Given the description of an element on the screen output the (x, y) to click on. 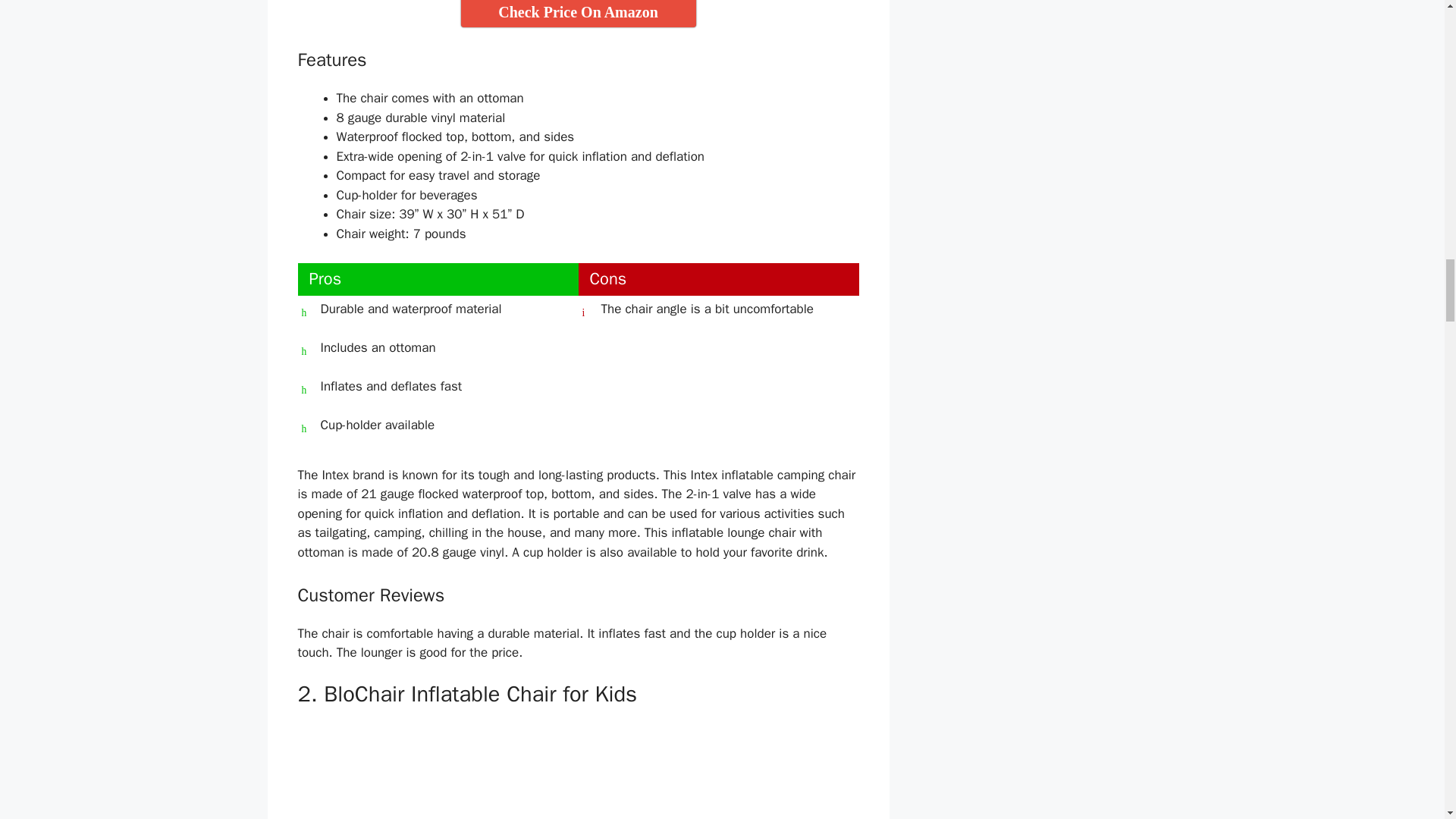
Check Price On Amazon (578, 13)
